Given the description of an element on the screen output the (x, y) to click on. 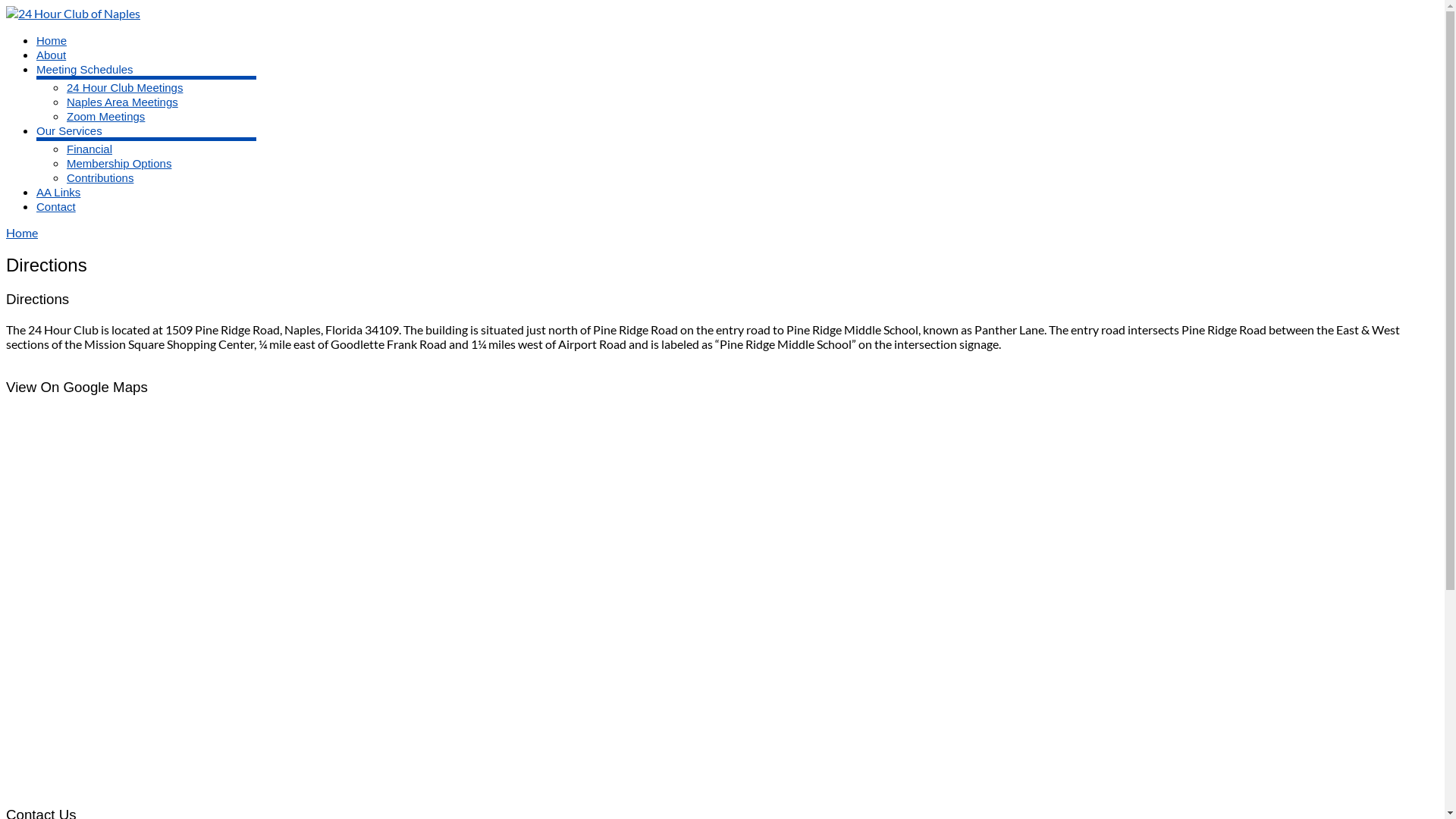
Meeting Schedules Element type: text (84, 68)
Naples Area Meetings Element type: text (122, 101)
Home Element type: text (21, 232)
AA Links Element type: text (58, 191)
Our Services Element type: text (69, 130)
Membership Options Element type: text (118, 162)
24 Hour Club of Naples Element type: hover (73, 13)
Contributions Element type: text (99, 177)
24 Hour Club Meetings Element type: text (124, 87)
Zoom Meetings Element type: text (105, 115)
Home Element type: text (51, 40)
About Element type: text (50, 54)
Financial Element type: text (89, 148)
Contact Element type: text (55, 206)
